Given the description of an element on the screen output the (x, y) to click on. 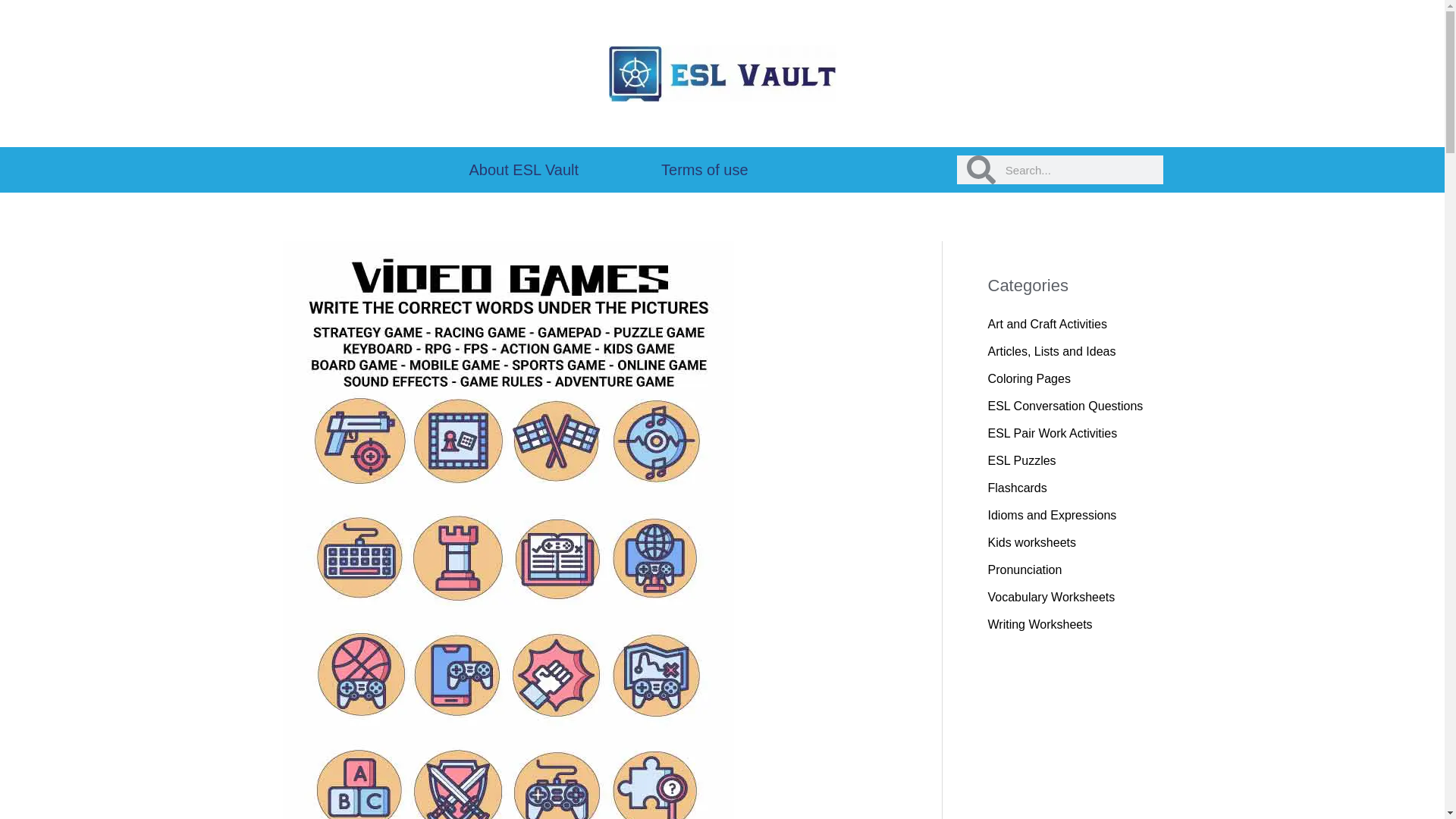
Art and Craft Activities (1046, 323)
Writing Worksheets (1039, 624)
ESL Pair Work Activities (1051, 432)
ESL Puzzles (1021, 460)
About ESL Vault (523, 169)
Kids worksheets (1031, 542)
Articles, Lists and Ideas (1051, 350)
Flashcards (1016, 487)
ESL Conversation Questions (1064, 405)
Vocabulary Worksheets (1051, 596)
Terms of use (703, 169)
Pronunciation (1024, 569)
Idioms and Expressions (1051, 514)
Coloring Pages (1028, 378)
